Given the description of an element on the screen output the (x, y) to click on. 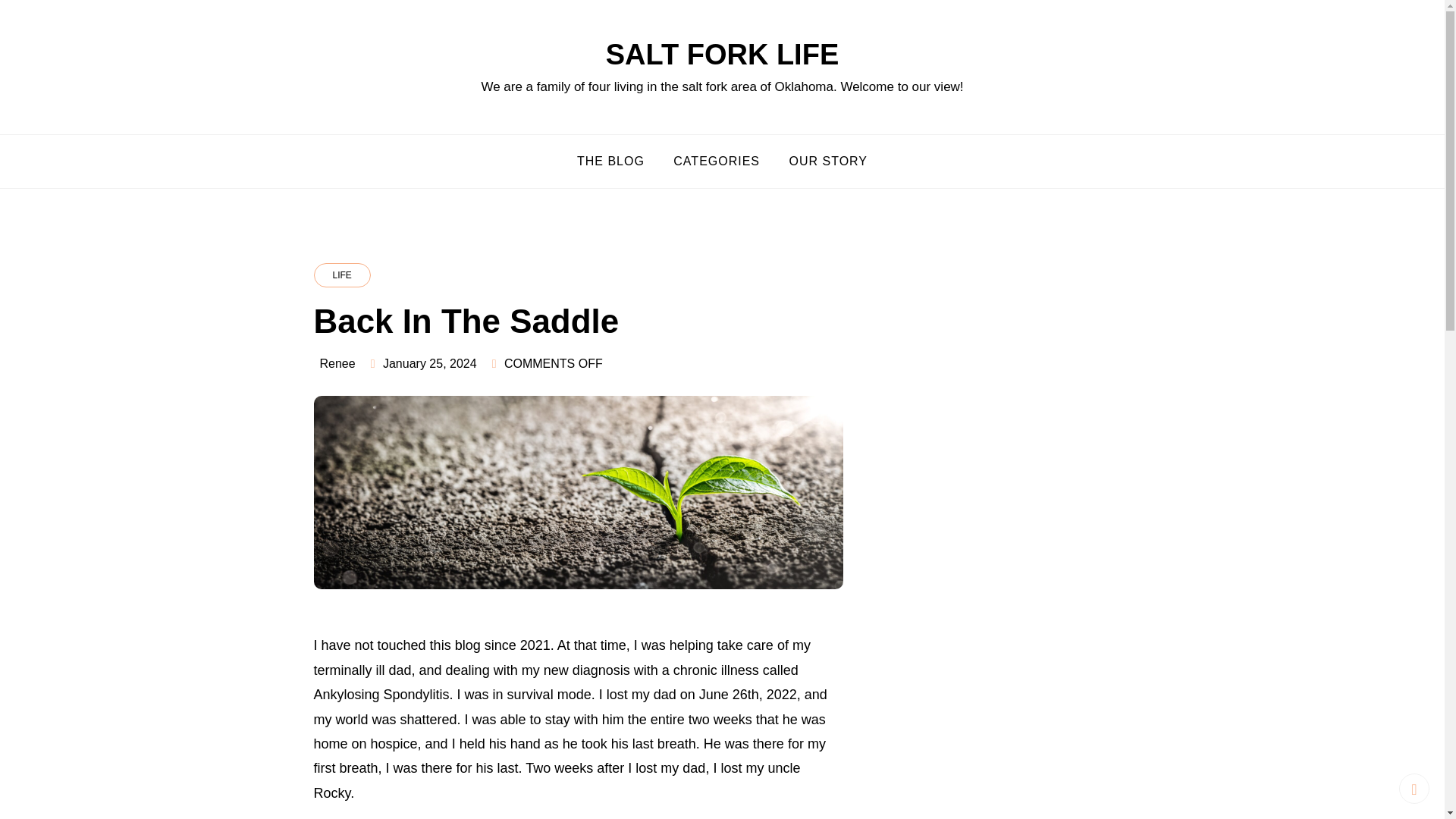
SALT FORK LIFE (722, 54)
LIFE (342, 274)
CATEGORIES (717, 161)
Renee (337, 363)
THE BLOG (611, 161)
January 25, 2024 (429, 363)
OUR STORY (828, 161)
